Given the description of an element on the screen output the (x, y) to click on. 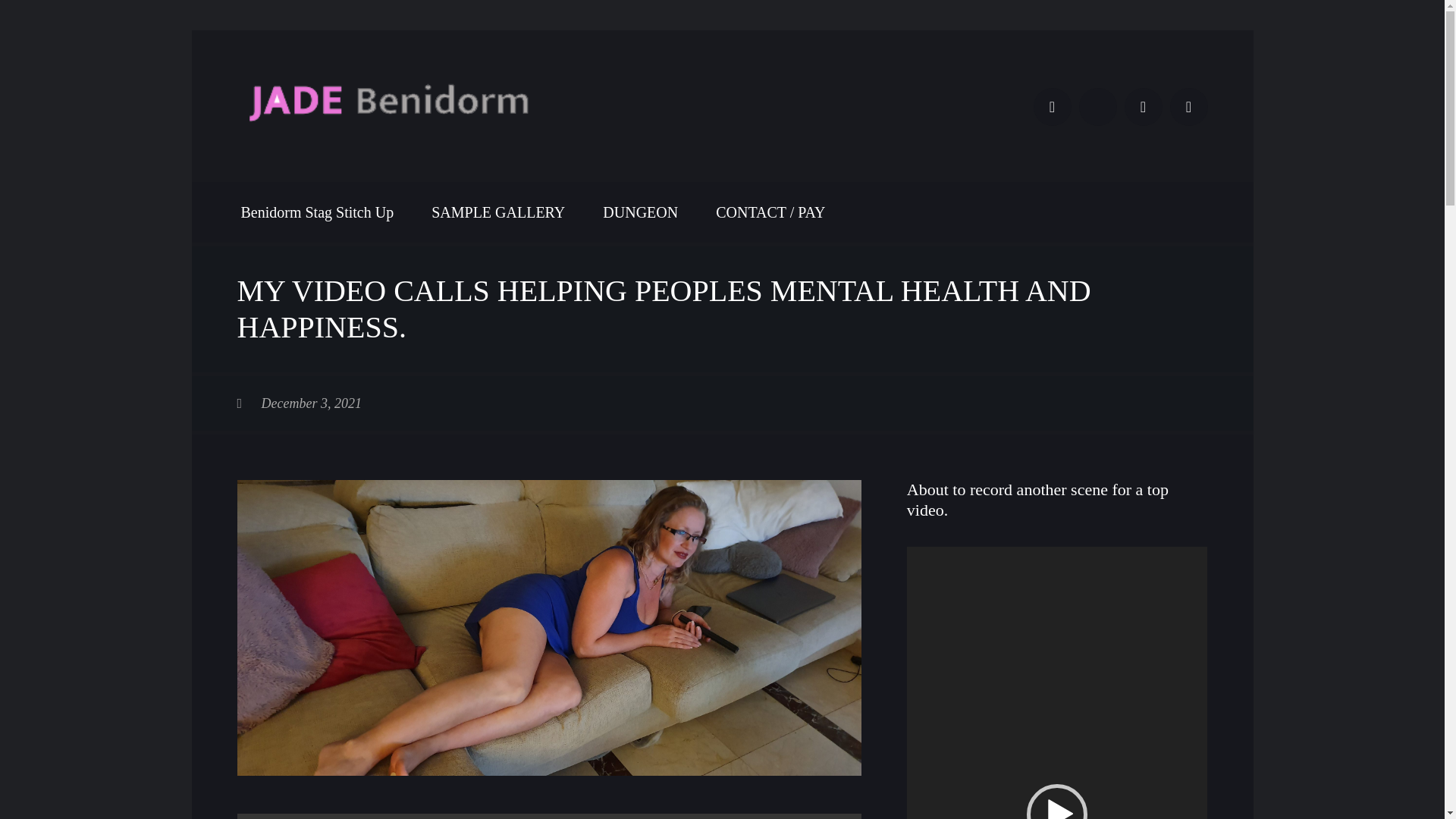
Instagram (1142, 106)
OnlyFans (1097, 106)
SAMPLE GALLERY (497, 211)
DUNGEON (640, 211)
Twitter (1188, 106)
Benidorm Stag Stitch Up (317, 211)
Facebook (1051, 106)
